Given the description of an element on the screen output the (x, y) to click on. 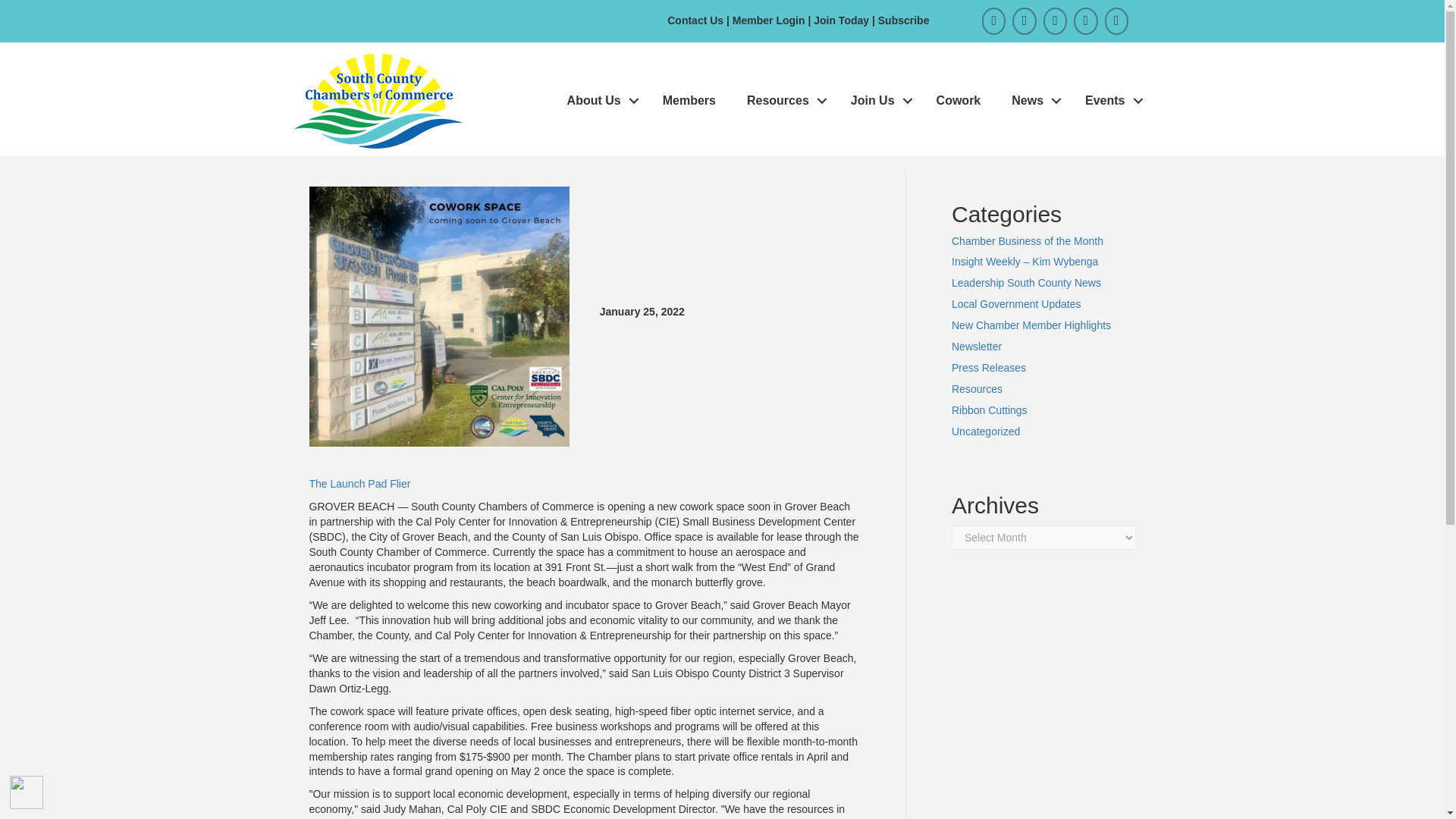
About Us (598, 101)
Contact Us (694, 20)
Subscribe (903, 20)
Resources (783, 101)
Join Us (877, 101)
south-county-chambers-logo-no-cities (378, 100)
Member Login (768, 20)
Members (688, 101)
Join Today (842, 20)
Grover Beach cowork space art for social media (438, 316)
